Given the description of an element on the screen output the (x, y) to click on. 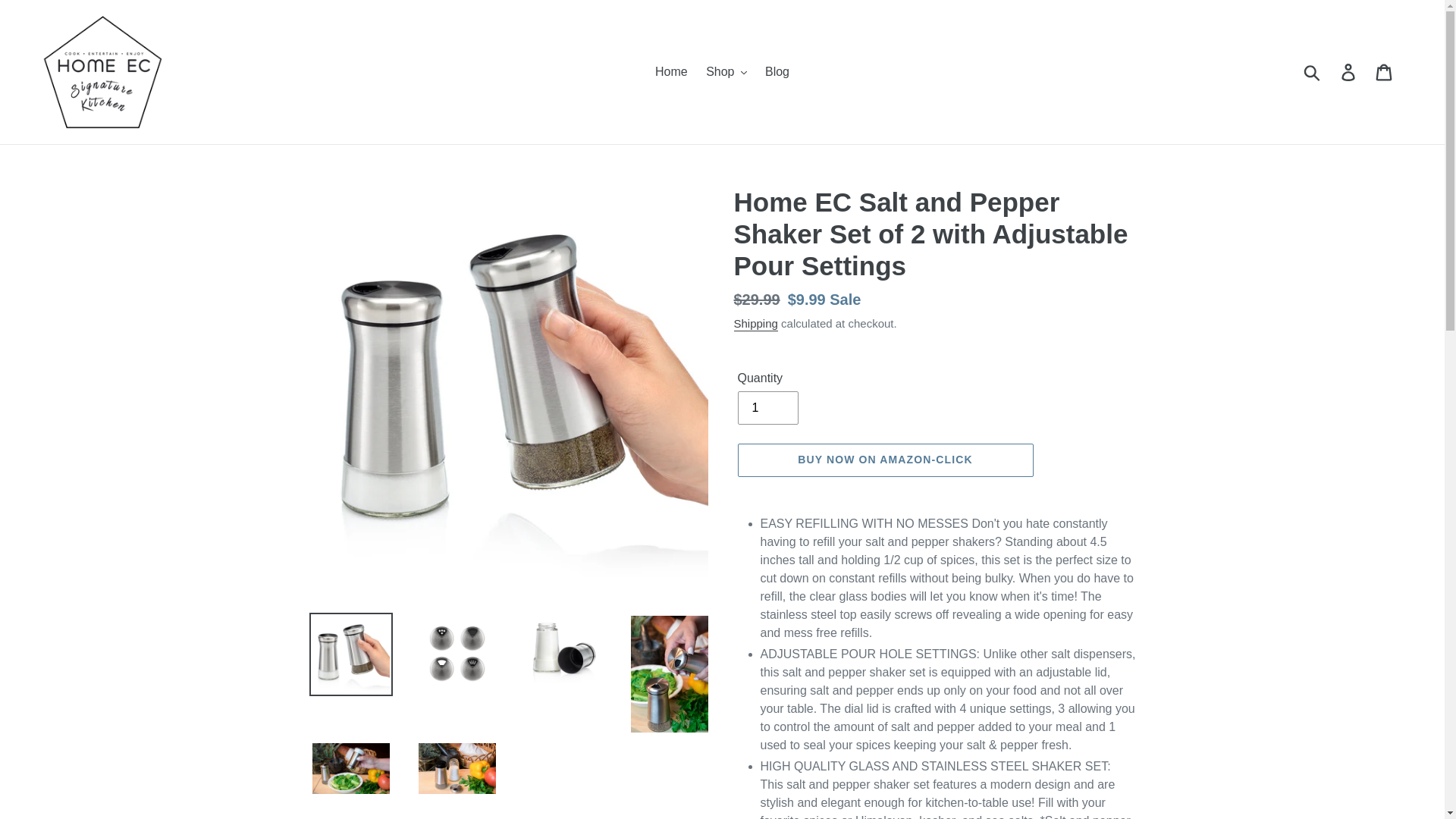
Log in (1349, 71)
Cart (1385, 71)
Submit (1313, 71)
1 (766, 408)
Blog (776, 71)
BUY NOW ON AMAZON-CLICK (884, 459)
Home (671, 71)
Shipping (755, 323)
